Given the description of an element on the screen output the (x, y) to click on. 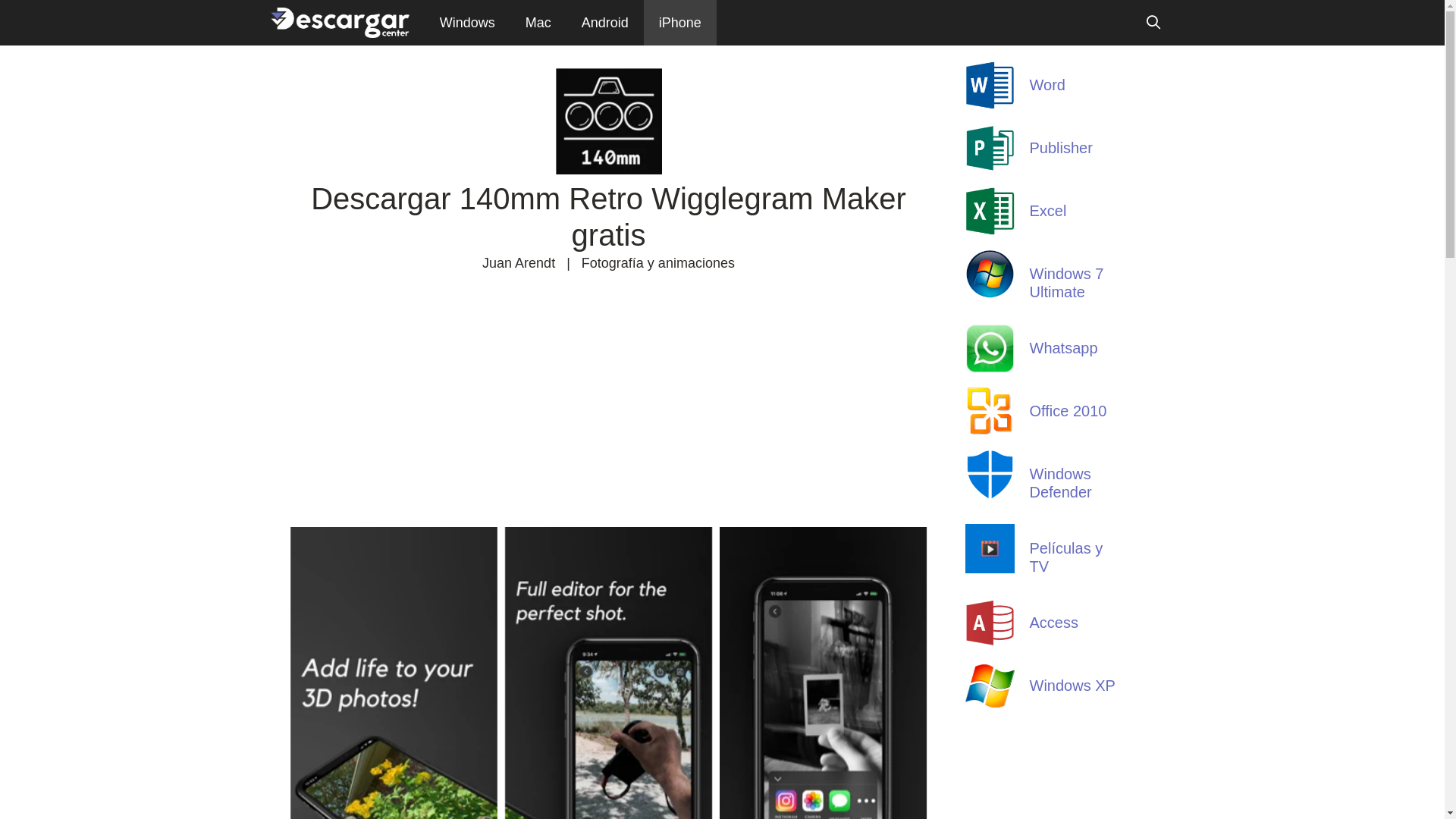
Windows Element type: text (467, 22)
Descargar.center Element type: hover (341, 22)
Excel Element type: hover (988, 230)
Descargar.center Element type: hover (337, 22)
Office 2010 Element type: hover (988, 431)
Word Element type: hover (988, 104)
Whatsapp Element type: text (1063, 347)
Publisher Element type: hover (988, 167)
Windows XP Element type: text (1072, 685)
Windows 7 Ultimate Element type: hover (988, 293)
Android Element type: text (604, 22)
iPhone Element type: text (679, 22)
Access Element type: hover (988, 642)
Mac Element type: text (538, 22)
Windows Defender Element type: text (1060, 482)
Word Element type: text (1047, 84)
Office 2010 Element type: text (1068, 410)
Excel Element type: text (1047, 210)
Access Element type: text (1053, 622)
Windows 7 Ultimate Element type: text (1066, 282)
Whatsapp Element type: hover (988, 368)
Windows XP Element type: hover (988, 705)
Windows Defender Element type: hover (988, 494)
Publisher Element type: text (1060, 147)
